Given the description of an element on the screen output the (x, y) to click on. 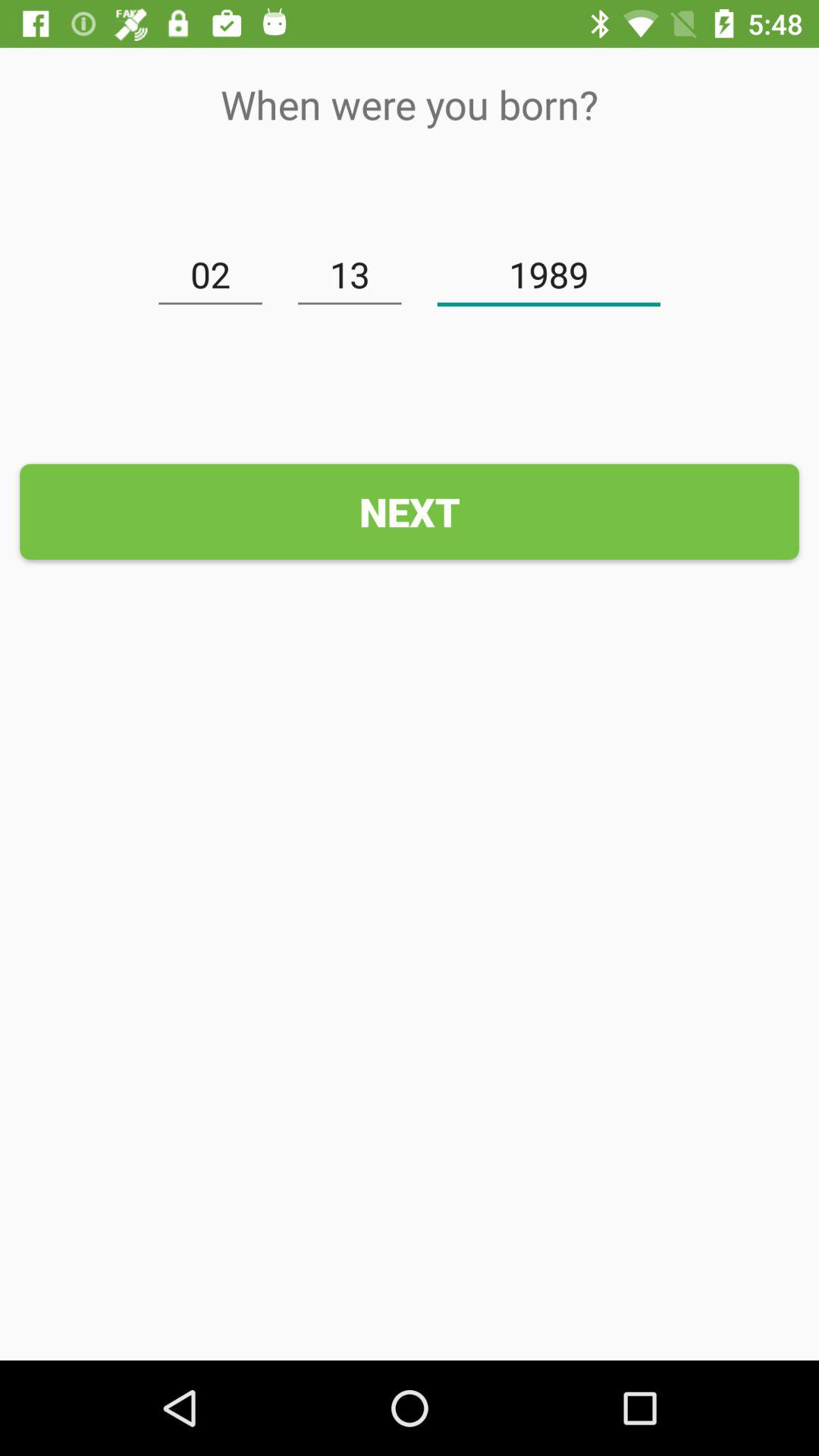
press the icon below the when were you icon (548, 275)
